Given the description of an element on the screen output the (x, y) to click on. 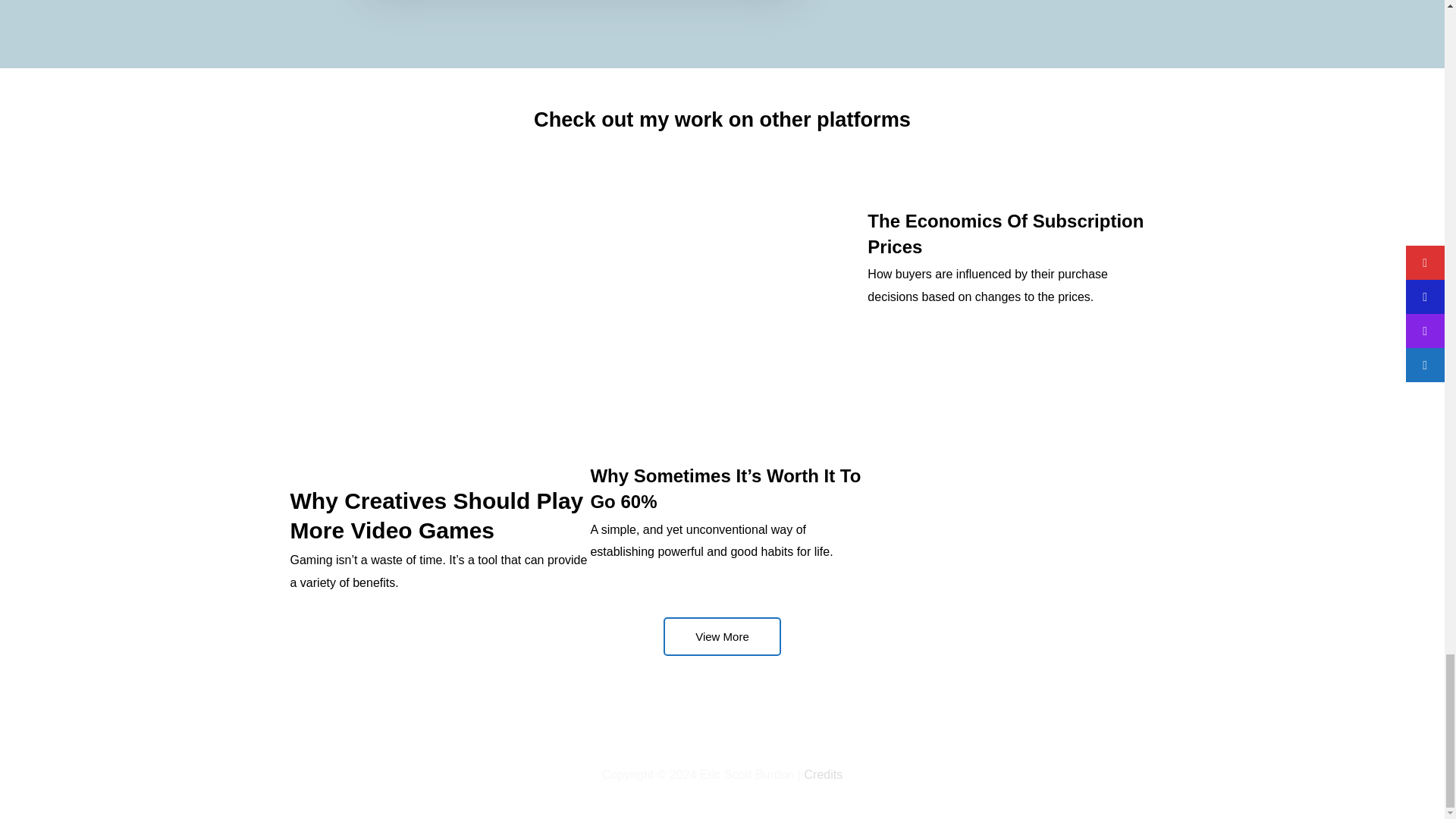
Credits (824, 774)
Why Creatives Should Play More Video Games (436, 515)
View More (721, 636)
